Given the description of an element on the screen output the (x, y) to click on. 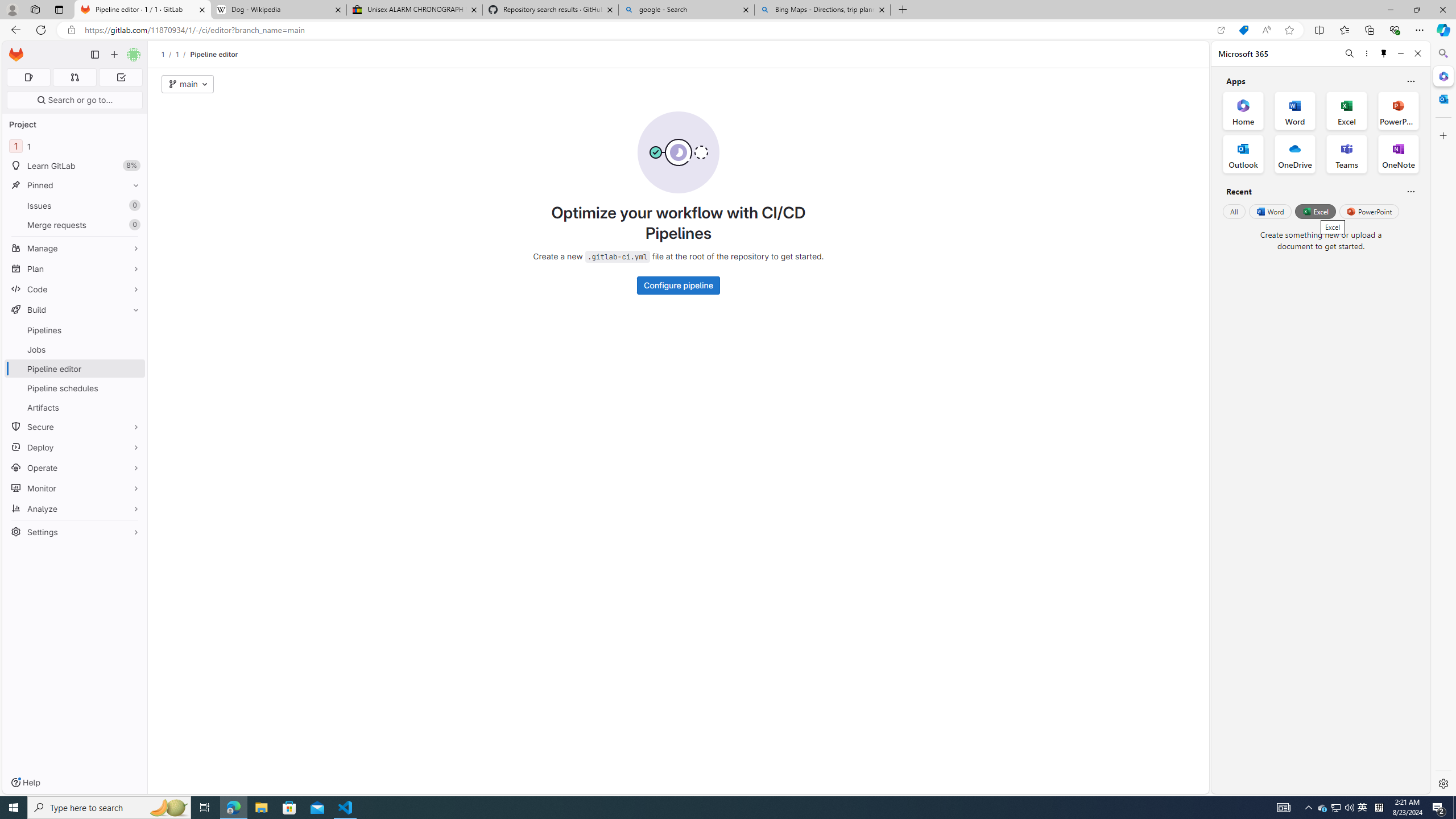
Monitor (74, 488)
Pin Jobs (132, 349)
